Given the description of an element on the screen output the (x, y) to click on. 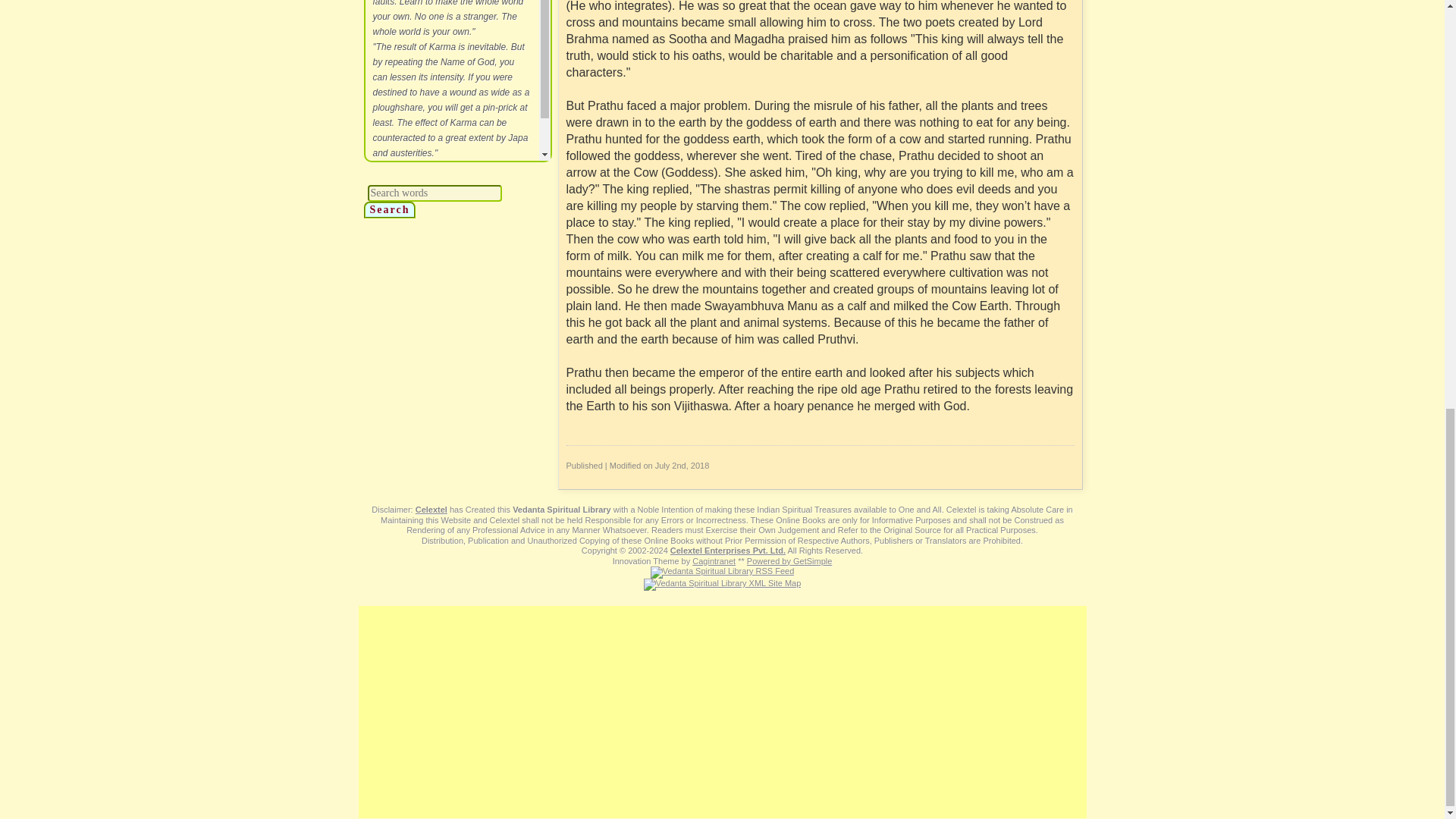
Search (390, 209)
Search (390, 209)
